Given the description of an element on the screen output the (x, y) to click on. 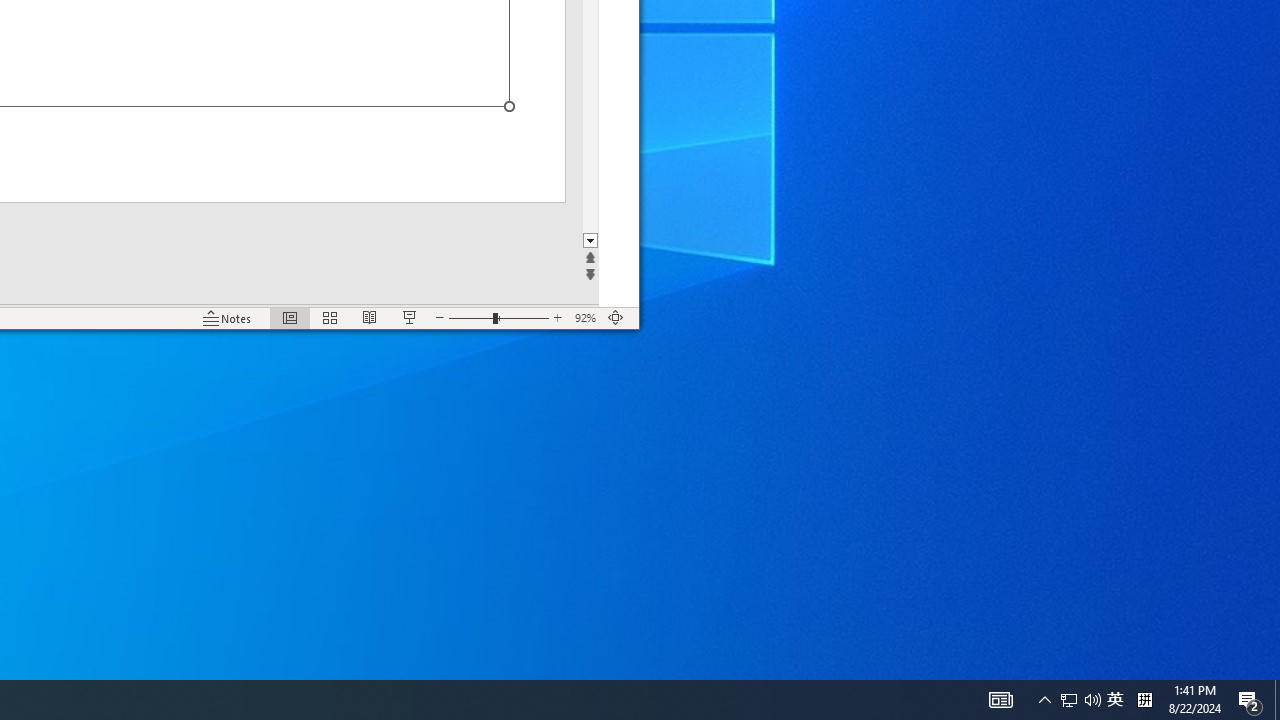
Zoom 92% (585, 318)
